Given the description of an element on the screen output the (x, y) to click on. 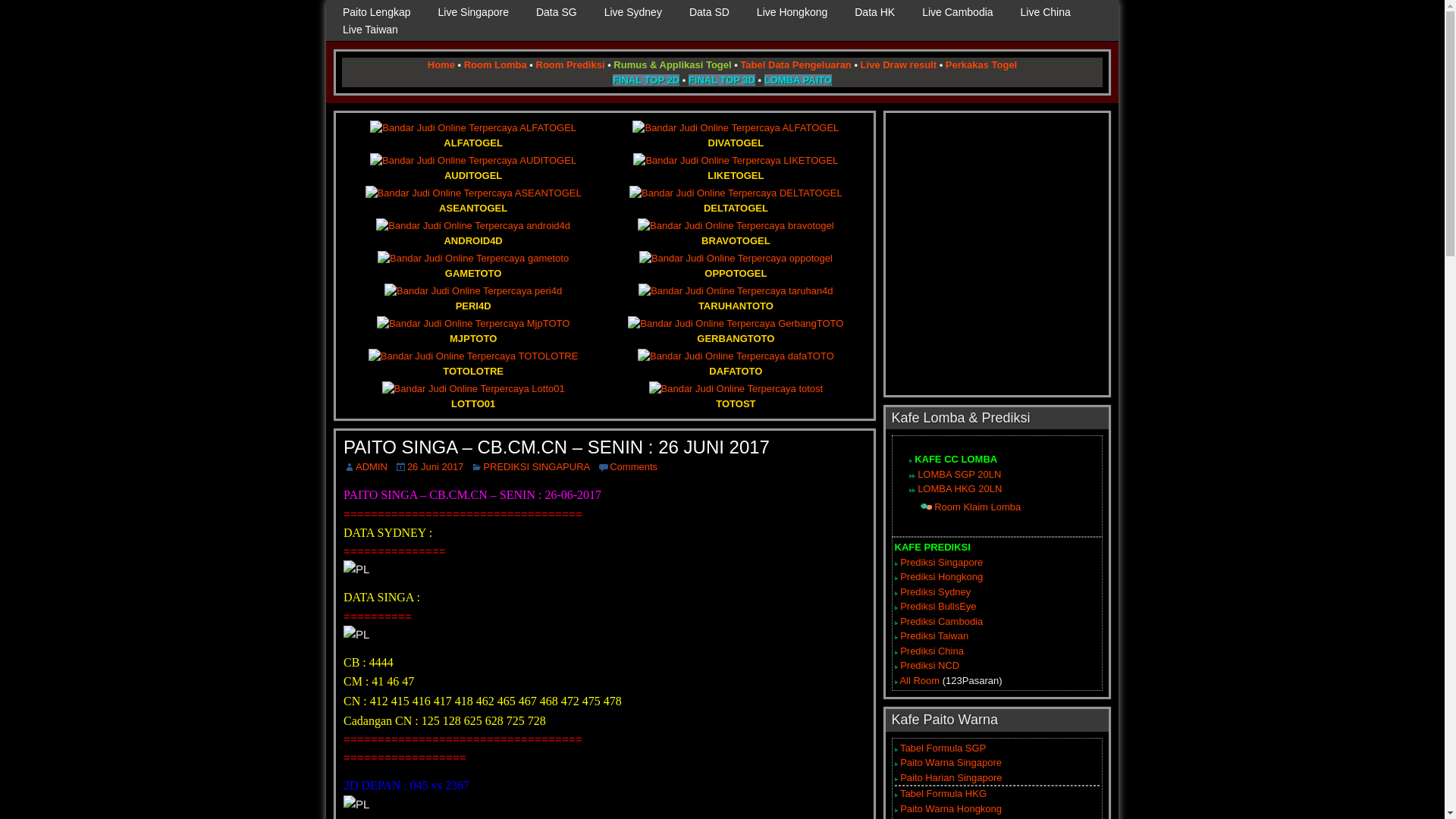
Comments Element type: text (633, 466)
Bandar Judi Online Terpercaya TOTOLOTRE Element type: hover (473, 356)
Paito Warna Hongkong Element type: text (950, 808)
Live Sydney Element type: text (632, 12)
Live Hongkong Element type: text (791, 12)
AUDITOGEL Element type: text (473, 167)
Bandar Judi Online Terpercaya DELTATOGEL Element type: hover (735, 192)
ADMIN Element type: text (371, 466)
ASEANTOGEL Element type: text (473, 200)
OPPOTOGEL Element type: text (735, 265)
DELTATOGEL Element type: text (735, 200)
panah Element type: hover (925, 506)
panah Element type: hover (912, 475)
ANDROID4D Element type: text (473, 232)
Room Klaim Lomba Element type: text (977, 506)
Data HK Element type: text (874, 12)
panah Element type: hover (912, 490)
Perkakas Togel Element type: text (980, 64)
Tabel Formula SGP Element type: text (942, 747)
Bandar Judi Online Terpercaya oppotogel Element type: hover (735, 258)
LOTTO01 Element type: text (473, 395)
MJPTOTO Element type: text (472, 330)
Bandar Judi Online Terpercaya android4d Element type: hover (473, 225)
LOMBA SGP 20LN Element type: text (959, 474)
Bandar Judi Online Terpercaya lotto01 Element type: hover (473, 388)
LOMBA HKG 20LN Element type: text (959, 488)
Live Taiwan Element type: text (370, 29)
Paito Lengkap Element type: text (376, 12)
GAMETOTO Element type: text (472, 265)
PREDIKSI SINGAPURA Element type: text (536, 466)
panah Element type: hover (909, 460)
BRAVOTOGEL Element type: text (735, 232)
panah Element type: hover (909, 475)
FINAL TOP 3D Element type: text (721, 79)
Prediksi China Element type: text (931, 650)
All Room Element type: text (919, 680)
DIVATOGEL Element type: text (735, 135)
Tabel Data Pengeluaran Element type: text (795, 64)
Prediksi Sydney Element type: text (935, 591)
TOTOST Element type: text (736, 395)
Paito Harian Singapore Element type: text (950, 777)
Bandar Judi Online Terpercaya DIVATOGEL Element type: hover (735, 127)
Bandar Judi Online Terpercaya taruhantoto Element type: hover (735, 290)
Rumus & Applikasi Togel Element type: text (672, 64)
Room Prediksi Element type: text (569, 64)
Prediksi NCD Element type: text (929, 665)
Bandar Judi Online Terpercaya LIKETOGEL Element type: hover (735, 160)
Prediksi Hongkong Element type: text (941, 576)
Bandar Judi Online Terpercaya AUDITOGEL Element type: hover (473, 160)
Live Draw result Element type: text (898, 64)
FINAL TOP 2D Element type: text (645, 79)
Prediksi Singapore Element type: text (941, 561)
Bandar Judi Online Terpercaya GerbangTOTO Element type: hover (735, 323)
Bandar Judi Online Terpercaya ASEANTOGEL Element type: hover (473, 192)
Prediksi BullsEye Element type: text (937, 605)
TOTOLOTRE Element type: text (473, 363)
LIKETOGEL Element type: text (735, 167)
Bandar Judi Online Terpercaya MjpTOTO Element type: hover (472, 323)
PERI4D Element type: text (472, 298)
Bandar Judi Online Terpercaya dafaTOTO Element type: hover (735, 356)
Live Cambodia Element type: text (957, 12)
Live China Element type: text (1045, 12)
ALFATOGEL Element type: text (473, 135)
Prediksi Cambodia Element type: text (941, 621)
Room Lomba Element type: text (495, 64)
panah Element type: hover (909, 490)
GERBANGTOTO Element type: text (735, 330)
Bandar Judi Online Terpercaya totost Element type: hover (736, 388)
26 Juni 2017 Element type: text (435, 466)
Live Singapore Element type: text (473, 12)
Bandar Judi Online Terpercaya bravotogel Element type: hover (735, 225)
Bandar Judi Online Terpercaya ALFATOGEL Element type: hover (473, 127)
TARUHANTOTO Element type: text (735, 298)
Prediksi Taiwan Element type: text (934, 635)
Tabel Formula HKG Element type: text (943, 793)
Bandar Judi Online Terpercaya peri4d Element type: hover (472, 290)
Data SD Element type: text (709, 12)
Data SG Element type: text (556, 12)
Home Element type: text (441, 64)
LOMBA PAITO Element type: text (797, 79)
Bandar Judi Online Terpercaya gametoto Element type: hover (472, 258)
Paito Warna Singapore Element type: text (950, 762)
DAFATOTO Element type: text (735, 363)
